Given the description of an element on the screen output the (x, y) to click on. 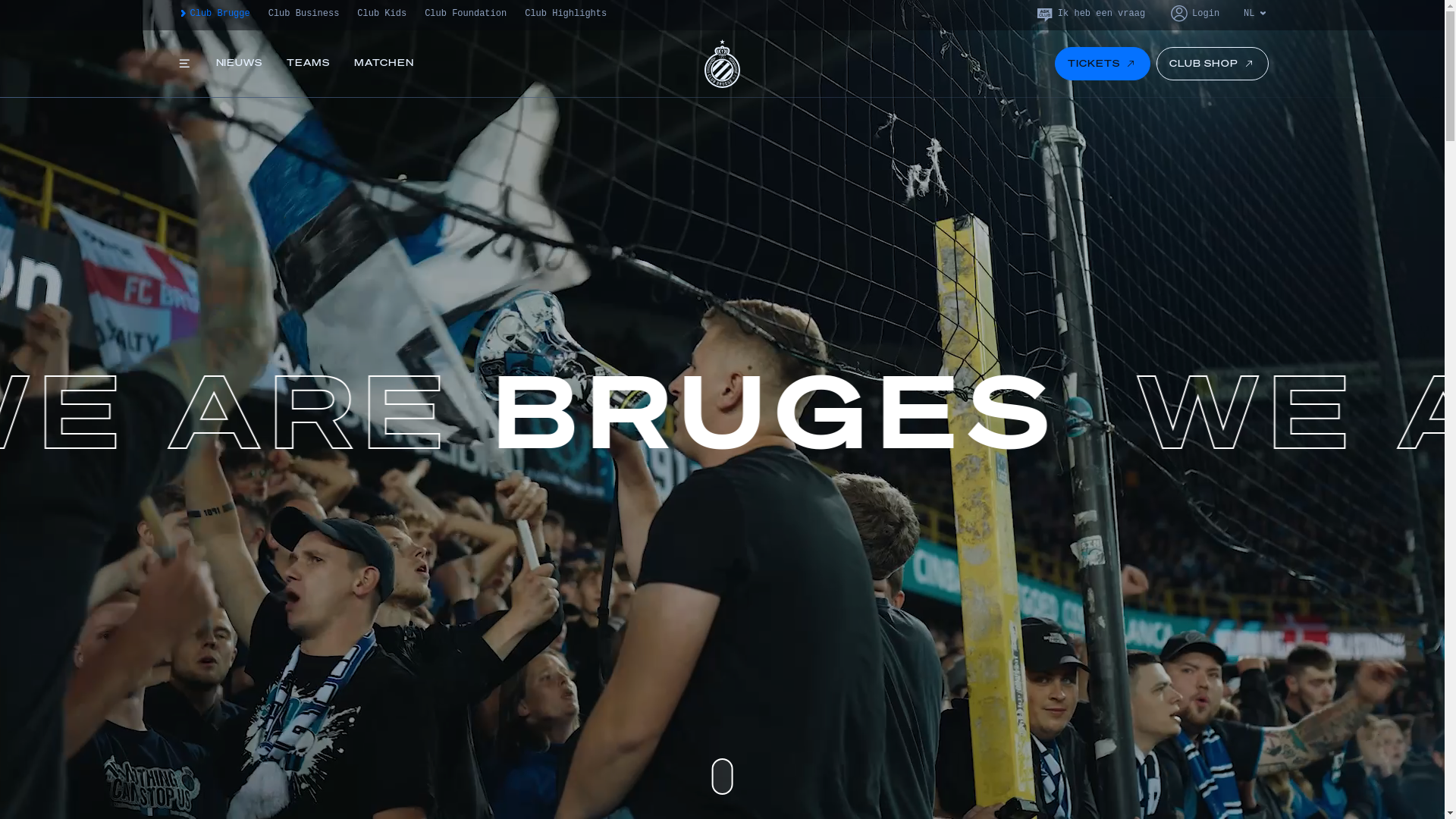
Club Highlights Element type: text (565, 13)
NL Element type: text (1255, 40)
TICKETS Element type: text (1102, 63)
Club Foundation Element type: text (465, 13)
MATCHEN Element type: text (384, 63)
Club Business Element type: text (303, 13)
TEAMS Element type: text (307, 63)
NIEUWS Element type: text (238, 63)
Login Element type: text (1194, 13)
Ik heb een vraag Element type: text (1090, 13)
NL Element type: text (1255, 13)
Club Kids Element type: text (381, 13)
Club Brugge Element type: text (212, 13)
CLUB SHOP Element type: text (1212, 63)
